Given the description of an element on the screen output the (x, y) to click on. 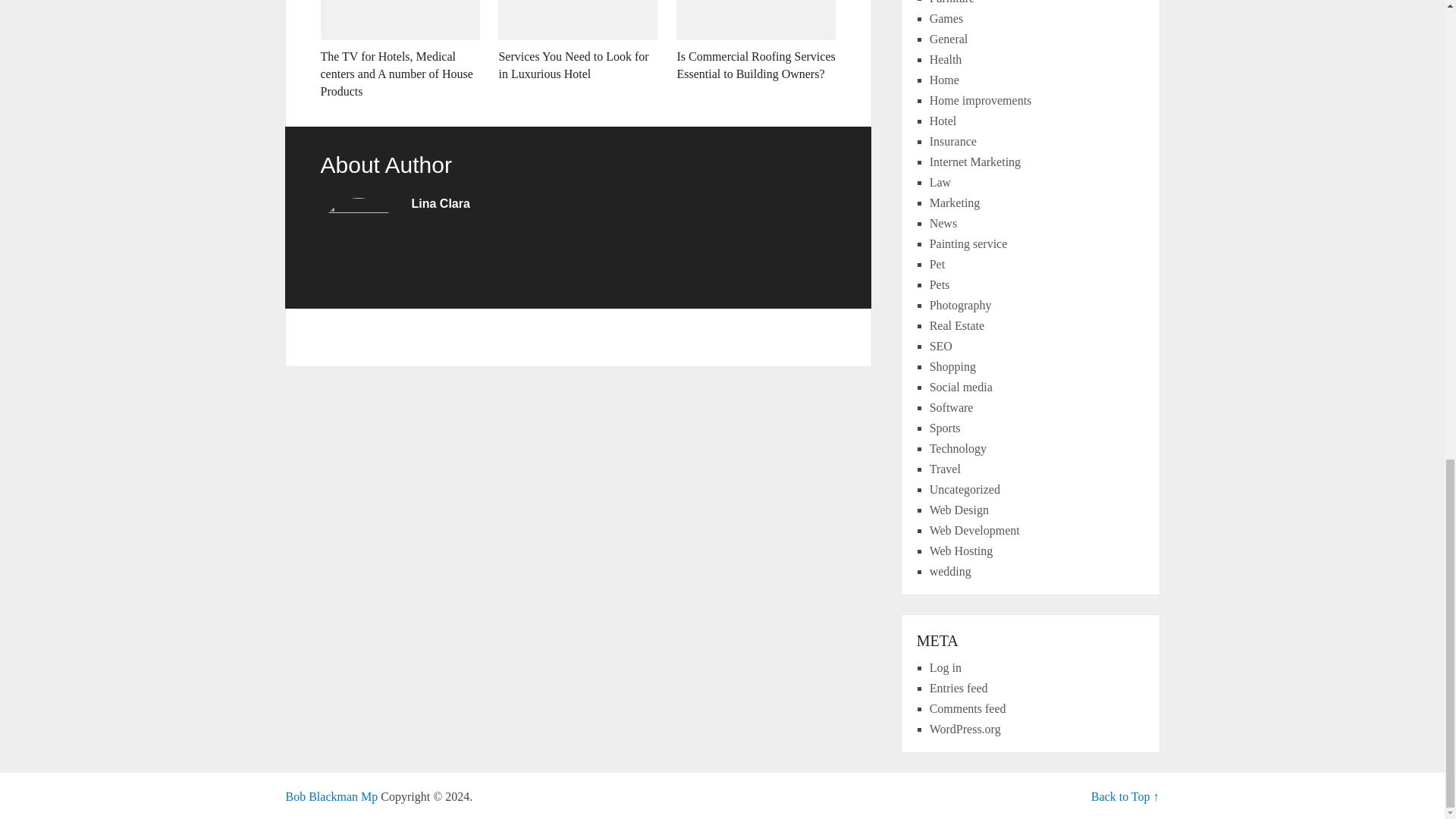
Furniture (952, 2)
Home (944, 79)
Services You Need to Look for in Luxurious Hotel (577, 41)
Games (946, 18)
Services You Need to Look for in Luxurious Hotel (577, 41)
Health (946, 59)
General (949, 38)
Is Commercial Roofing Services Essential to Building Owners? (756, 41)
Is Commercial Roofing Services Essential to Building Owners? (756, 41)
